Given the description of an element on the screen output the (x, y) to click on. 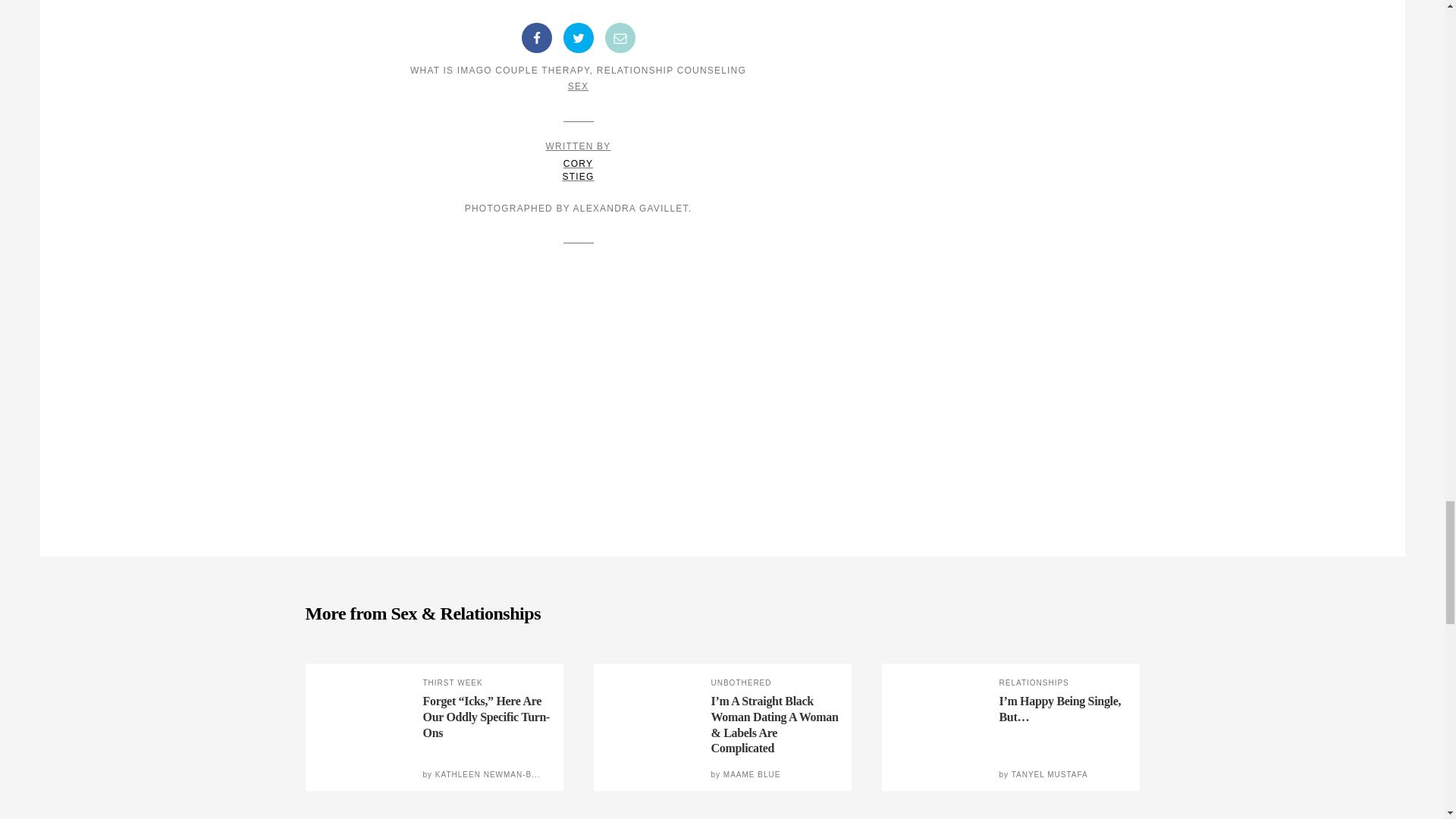
Share on Twitter (577, 37)
Share by Email (619, 37)
SEX (577, 161)
